Given the description of an element on the screen output the (x, y) to click on. 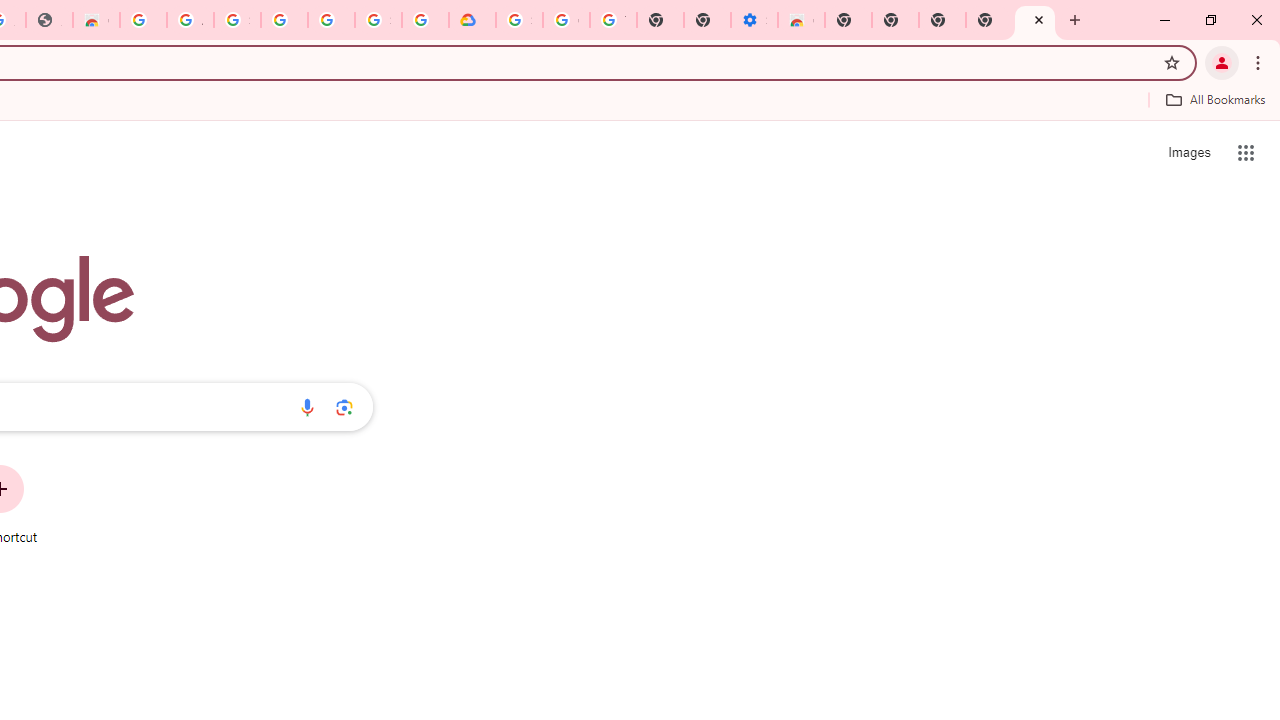
Sign in - Google Accounts (518, 20)
Sign in - Google Accounts (237, 20)
Chrome Web Store - Accessibility extensions (801, 20)
Turn cookies on or off - Computer - Google Account Help (613, 20)
New Tab (848, 20)
New Tab (989, 20)
New Tab (1035, 20)
Sign in - Google Accounts (377, 20)
